Given the description of an element on the screen output the (x, y) to click on. 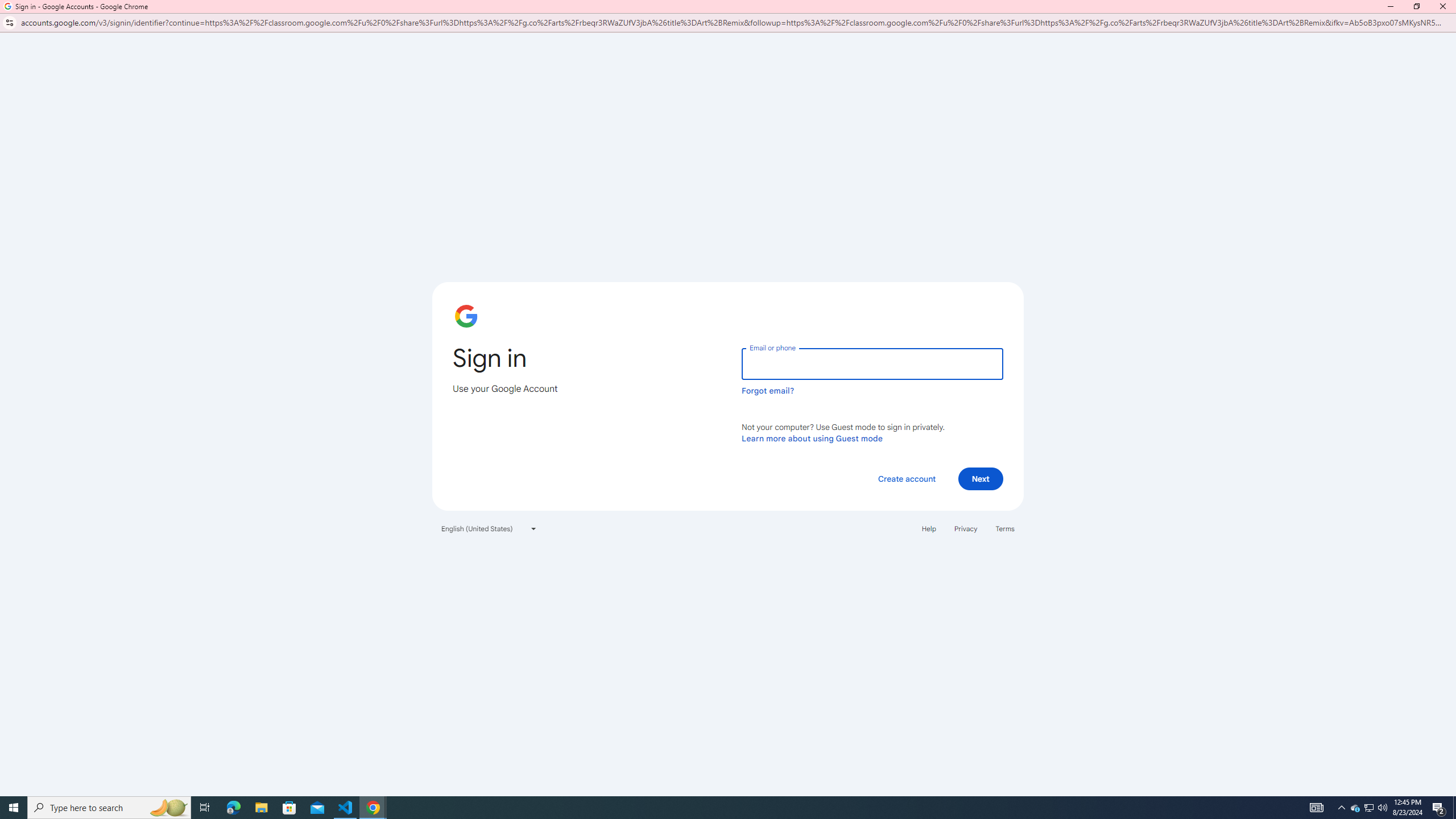
Create account (905, 478)
